Given the description of an element on the screen output the (x, y) to click on. 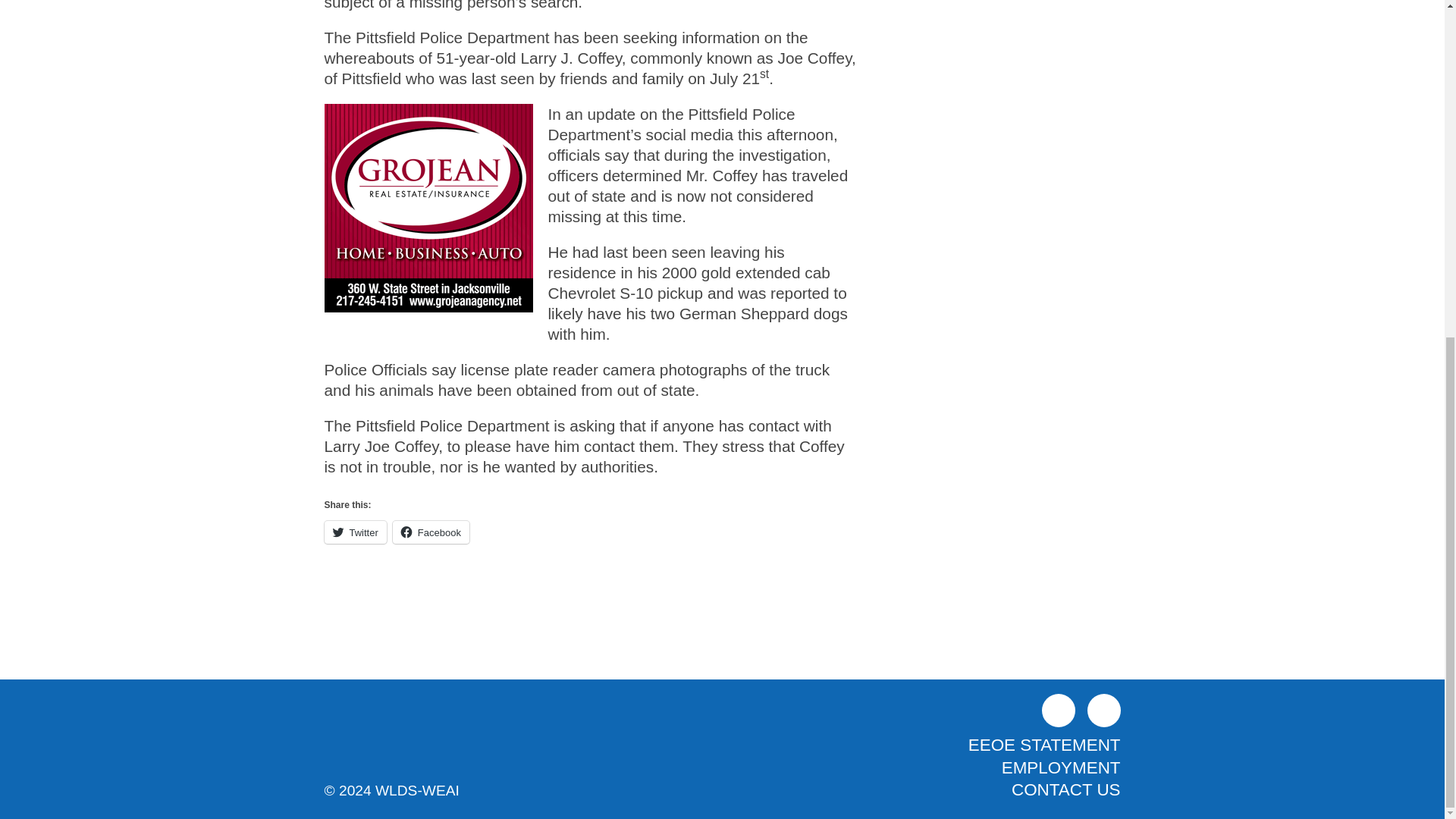
Facebook (430, 531)
Click to share on Twitter (355, 531)
Facebook (1058, 710)
Click to share on Facebook (430, 531)
Twitter (355, 531)
